Given the description of an element on the screen output the (x, y) to click on. 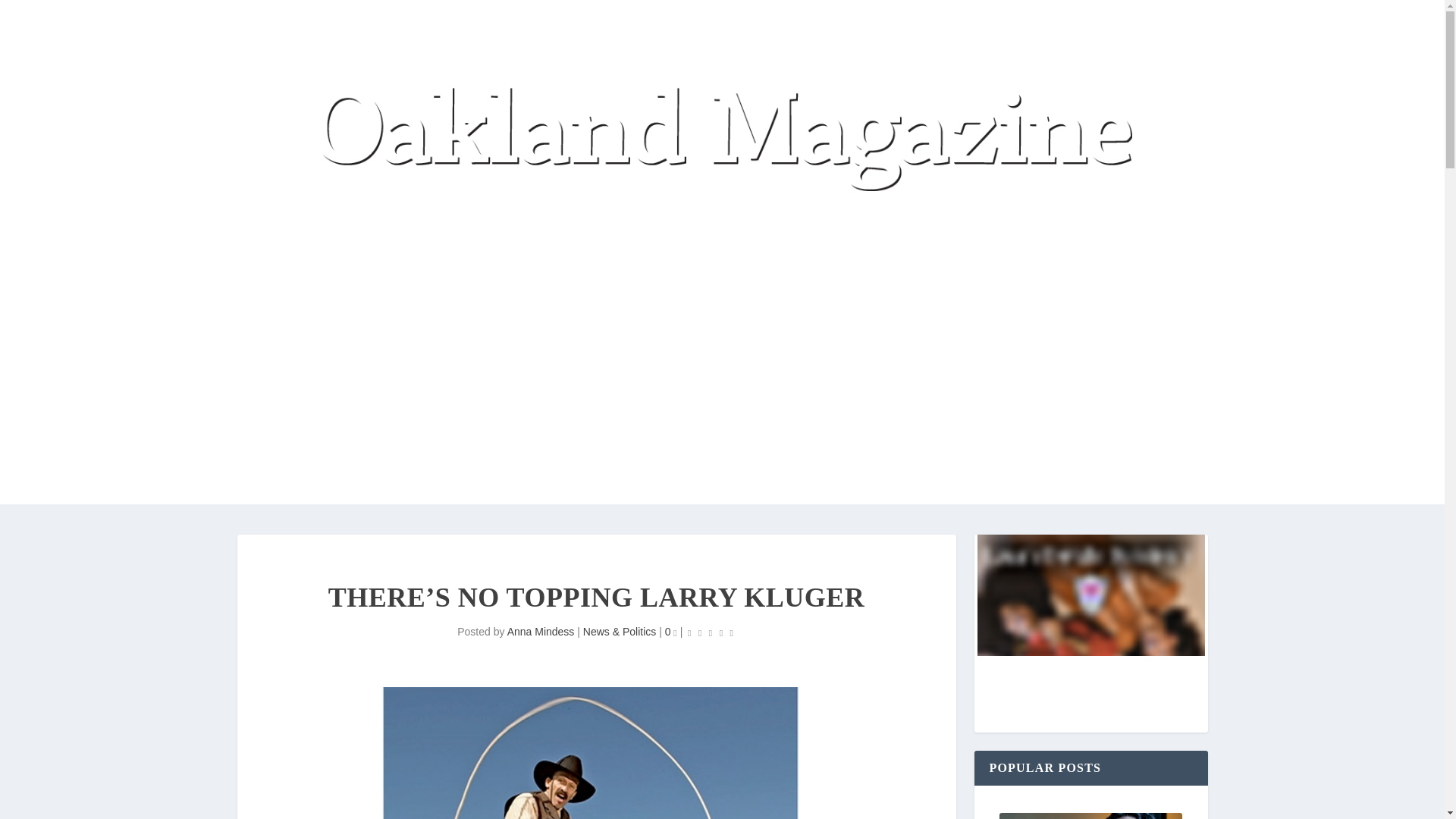
Advertise (407, 401)
Follow on Twitter (843, 399)
Follow on Instagram (903, 399)
Newsletters (340, 401)
Follow on Facebook (873, 399)
Contact Us (471, 401)
Best of Oakland Ballot (885, 205)
Calendar (334, 205)
0 (671, 631)
Anna Mindess (540, 631)
